Given the description of an element on the screen output the (x, y) to click on. 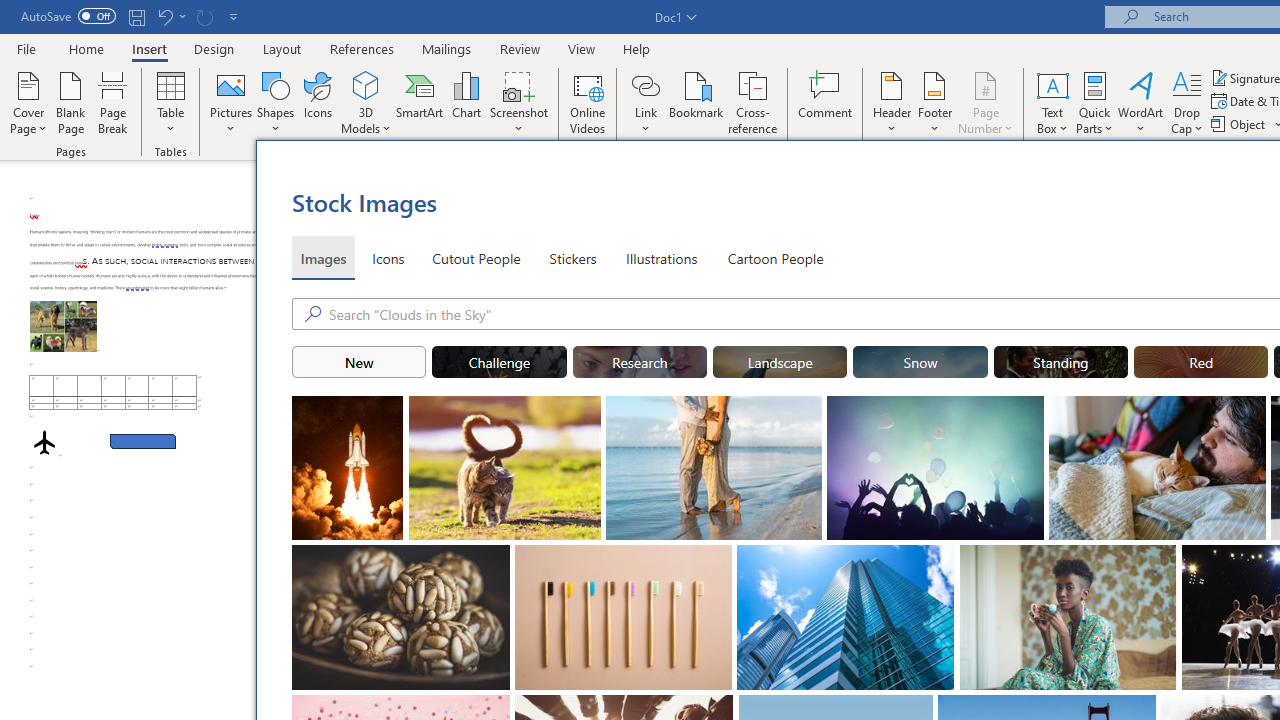
More Options (645, 121)
References (362, 48)
Cross-reference... (752, 102)
Shapes (275, 102)
Illustrations (661, 258)
Customize Quick Access Toolbar (234, 15)
Quick Parts (1094, 102)
"Research" Stock Images. (639, 362)
Blank Page (70, 102)
System (10, 11)
Help (637, 48)
Chart... (466, 102)
